Given the description of an element on the screen output the (x, y) to click on. 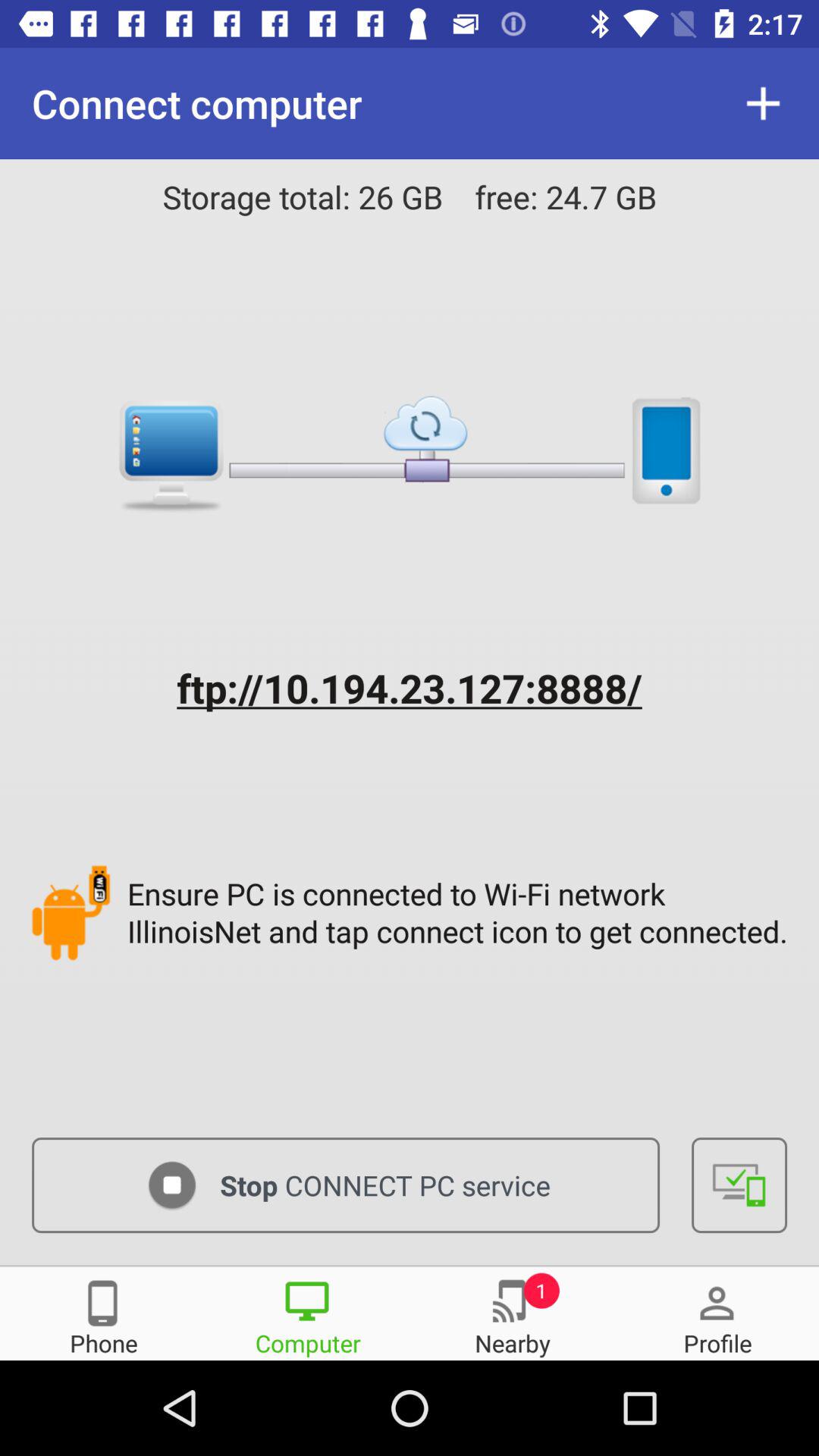
press the icon above the stop connect pc (461, 912)
